Given the description of an element on the screen output the (x, y) to click on. 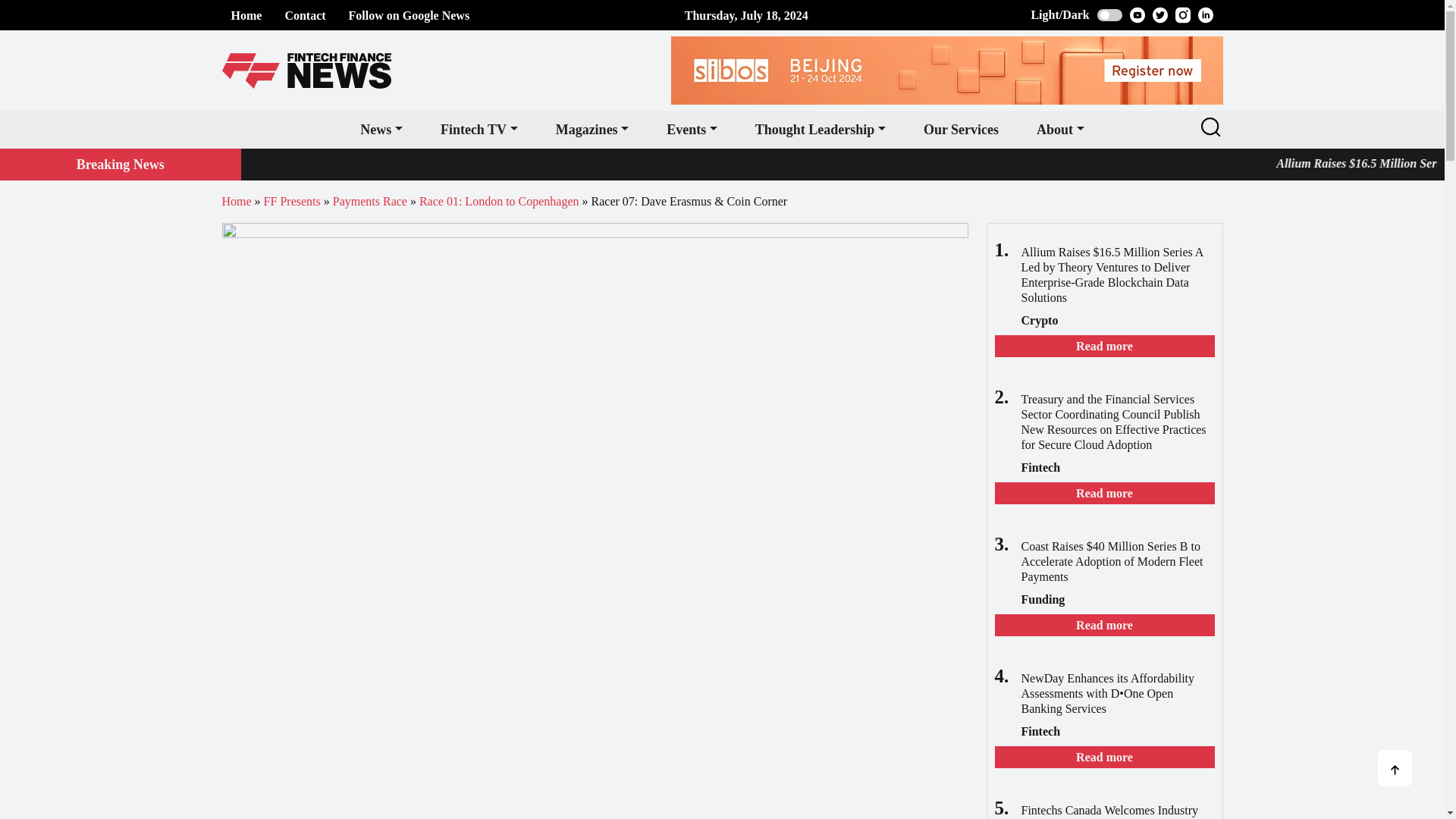
Home (246, 15)
Follow on Google News (409, 15)
Contact (303, 15)
Magazines (592, 129)
Events (691, 129)
Fintech TV (479, 129)
Fintech TV (479, 129)
News (381, 129)
